Given the description of an element on the screen output the (x, y) to click on. 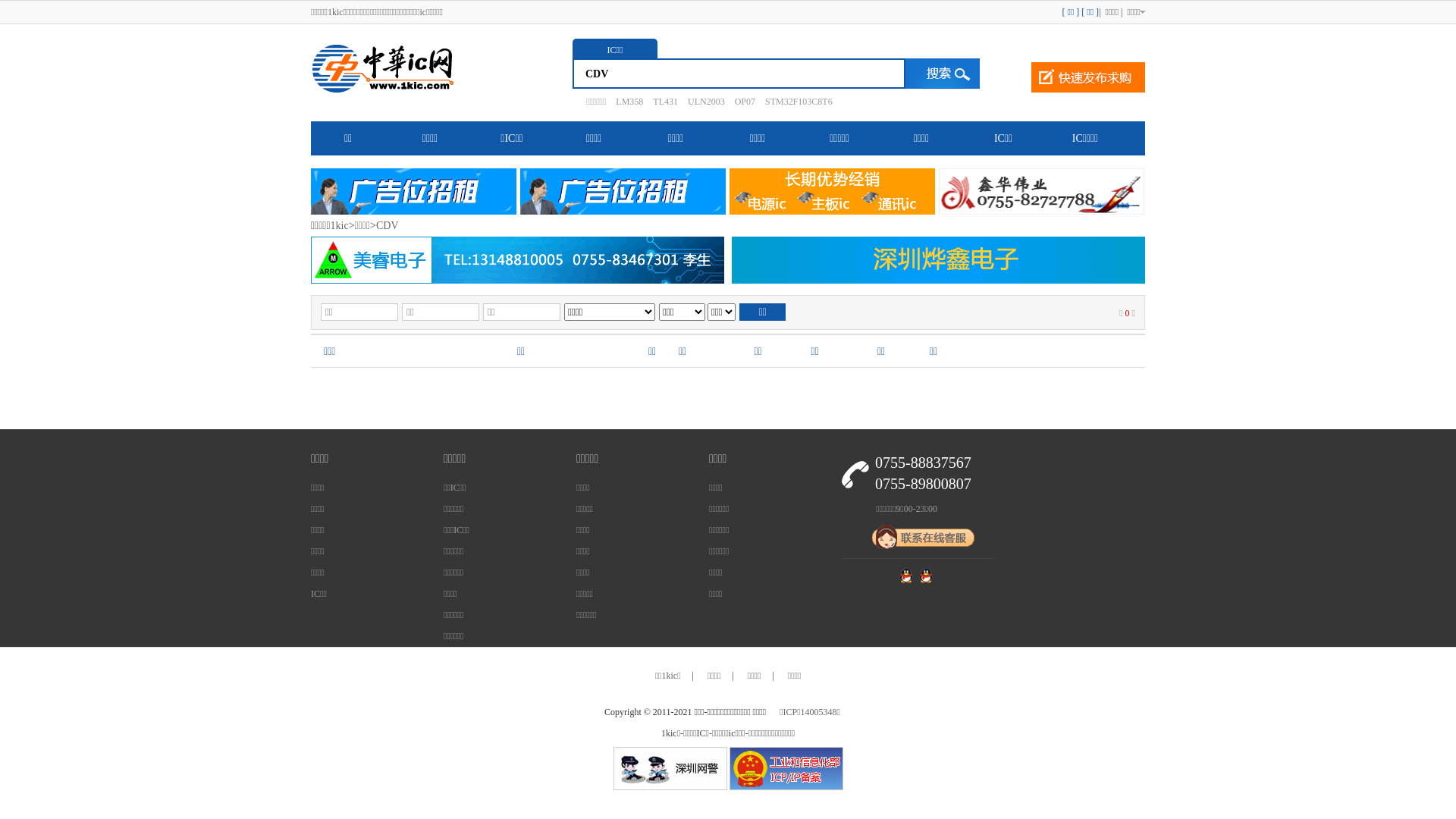
1kic Element type: text (339, 225)
TL431 Element type: text (661, 101)
CDV Element type: text (387, 225)
LM358 Element type: text (625, 101)
STM32F103C8T6 Element type: text (794, 101)
OP07 Element type: text (741, 101)
ULN2003 Element type: text (702, 101)
